Given the description of an element on the screen output the (x, y) to click on. 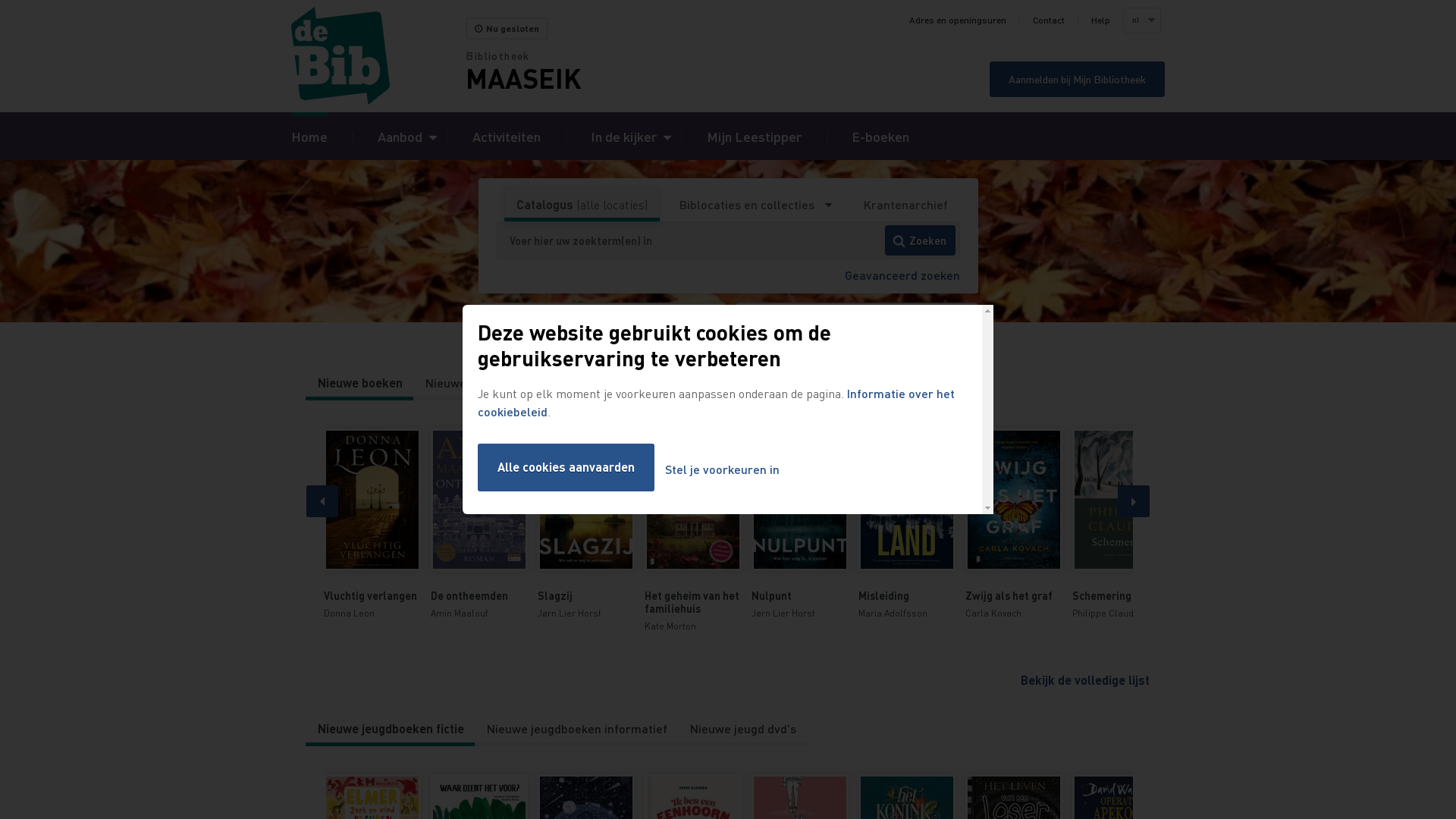
Nieuwe muziek Element type: text (719, 382)
Biblocaties en collecties Element type: text (754, 204)
Openingsuren opzoeken Element type: text (856, 321)
Nieuwe films en series Element type: text (591, 382)
De ontheemden
Amin Maalouf Element type: text (478, 524)
nl Element type: text (1140, 20)
Nu gesloten Element type: text (506, 28)
Geavanceerd zoeken Element type: text (902, 274)
Krantenarchief Element type: text (905, 204)
Activiteiten Element type: text (506, 136)
Zoeken Element type: text (919, 240)
Overslaan en naar zoeken gaan Element type: text (0, 0)
Alle cookies aanvaarden Element type: text (565, 466)
Contact Element type: text (1048, 20)
Catalogus (alle locaties) Element type: text (581, 204)
Home Element type: hover (378, 55)
Mijn Leestipper Element type: text (753, 136)
E-boeken Element type: text (880, 136)
Nieuwe boeken Element type: text (360, 382)
Adres en openingsuren Element type: text (957, 20)
Nieuwe games Element type: text (465, 382)
Uitleentermijn verlengen Element type: text (601, 321)
Misleiding
Maria Adolfsson Element type: text (906, 524)
Stel je voorkeuren in Element type: text (722, 469)
Nieuwe jeugdboeken informatief Element type: text (576, 728)
Help Element type: text (1100, 20)
Zwijg als het graf
Carla Kovach Element type: text (1012, 524)
Het geheim van het familiehuis
Kate Morton Element type: text (692, 530)
Nieuwe jeugd dvd's Element type: text (742, 728)
Home Element type: text (309, 136)
Informatie over het cookiebeleid Element type: text (715, 402)
Bekijk de volledige lijst Element type: text (1084, 679)
Schemering
Philippe Claudel Element type: text (1120, 524)
Vluchtig verlangen
Donna Leon Element type: text (371, 524)
Nieuwe jeugdboeken fictie Element type: text (390, 728)
Aanmelden bij Mijn Bibliotheek Element type: text (1076, 79)
